Given the description of an element on the screen output the (x, y) to click on. 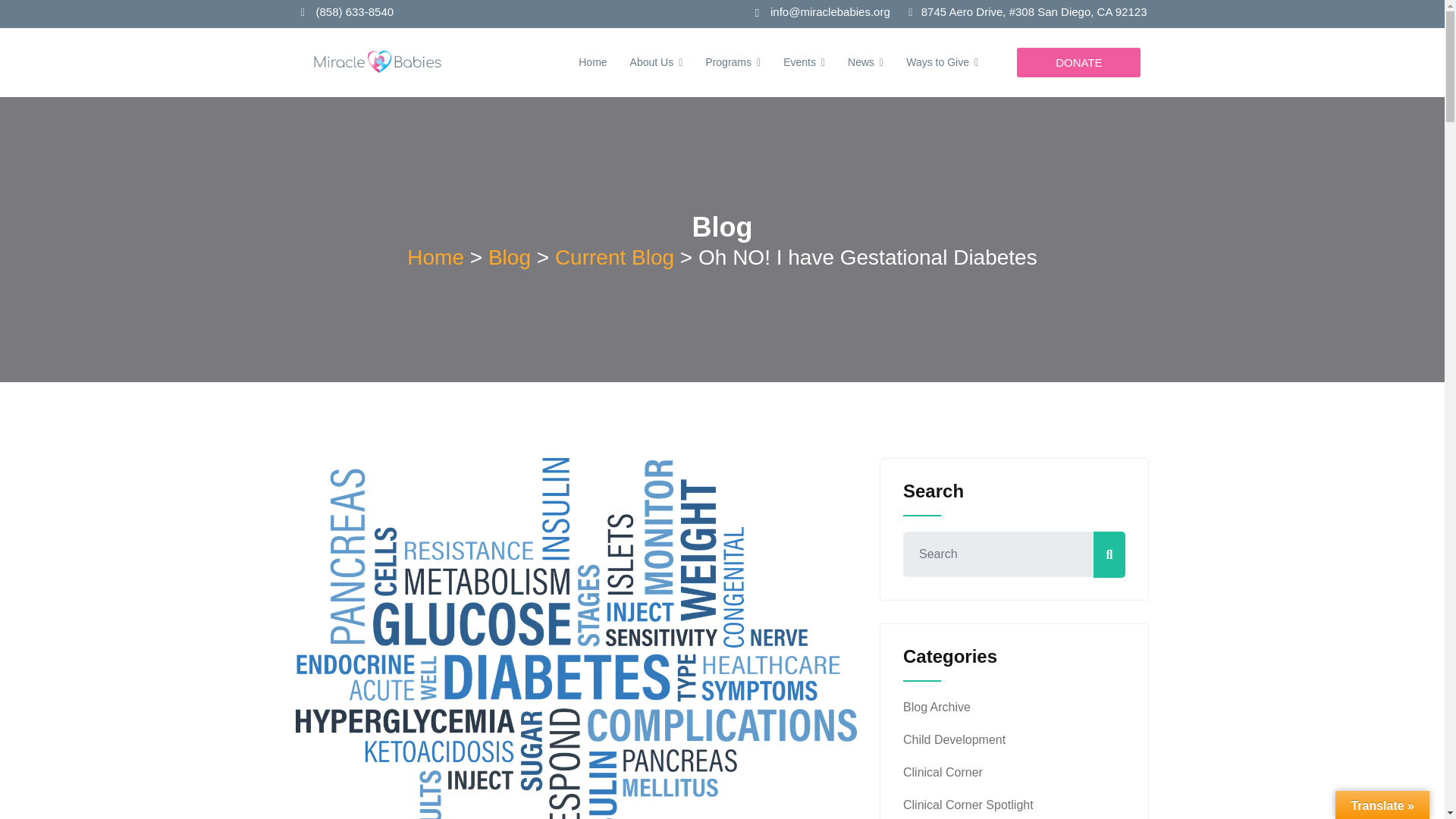
Current Blog (614, 257)
Home (435, 257)
Home (592, 62)
Programs (732, 62)
Blog (509, 257)
Go to Home. (435, 257)
Events (803, 62)
Ways to Give (942, 62)
DONATE (1078, 61)
Go to the Current Blog Category archives. (614, 257)
News (865, 62)
Go to Blog. (509, 257)
About Us (656, 62)
